Given the description of an element on the screen output the (x, y) to click on. 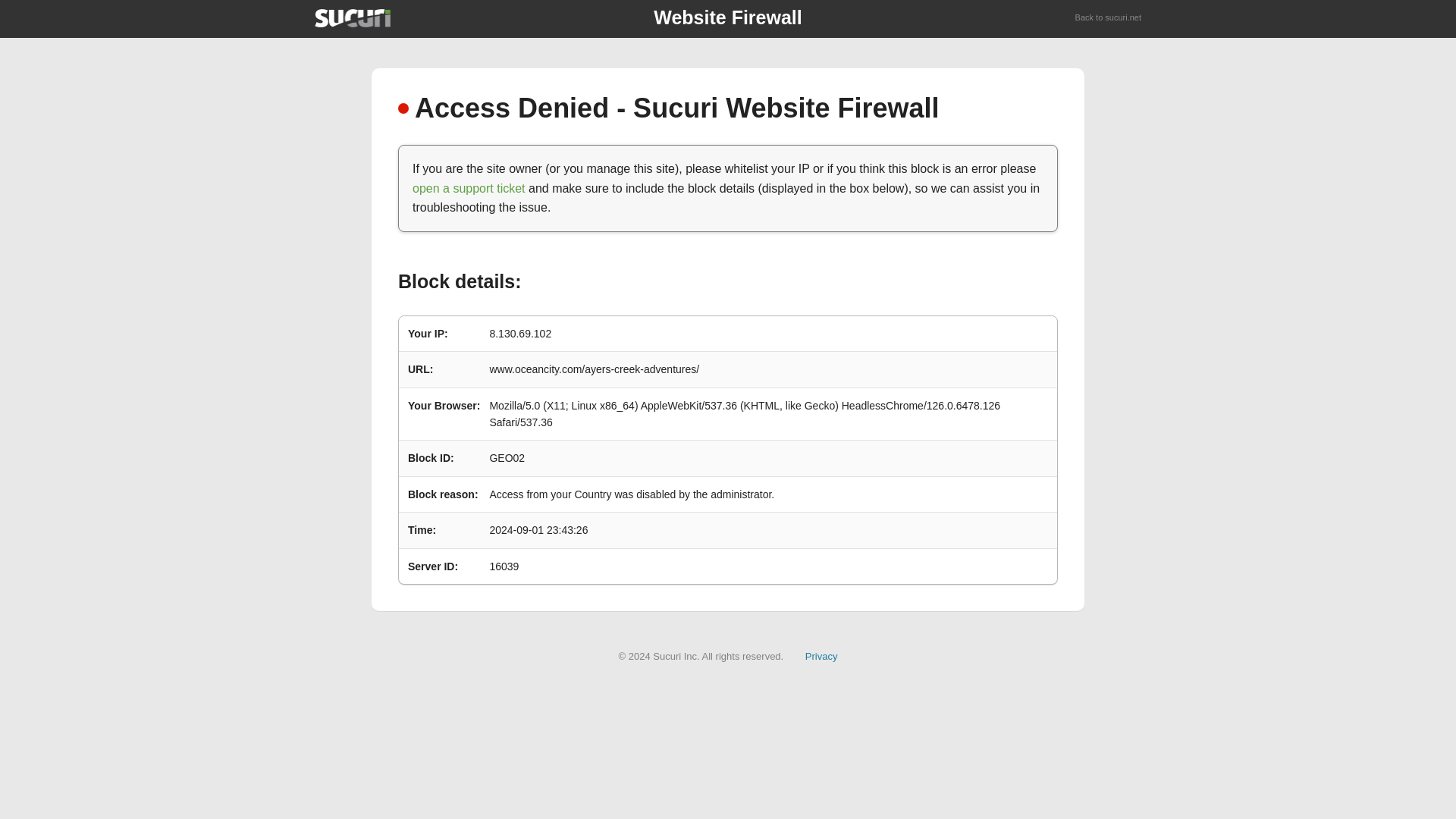
Privacy (821, 655)
Back to sucuri.net (1108, 18)
open a support ticket (468, 187)
